Given the description of an element on the screen output the (x, y) to click on. 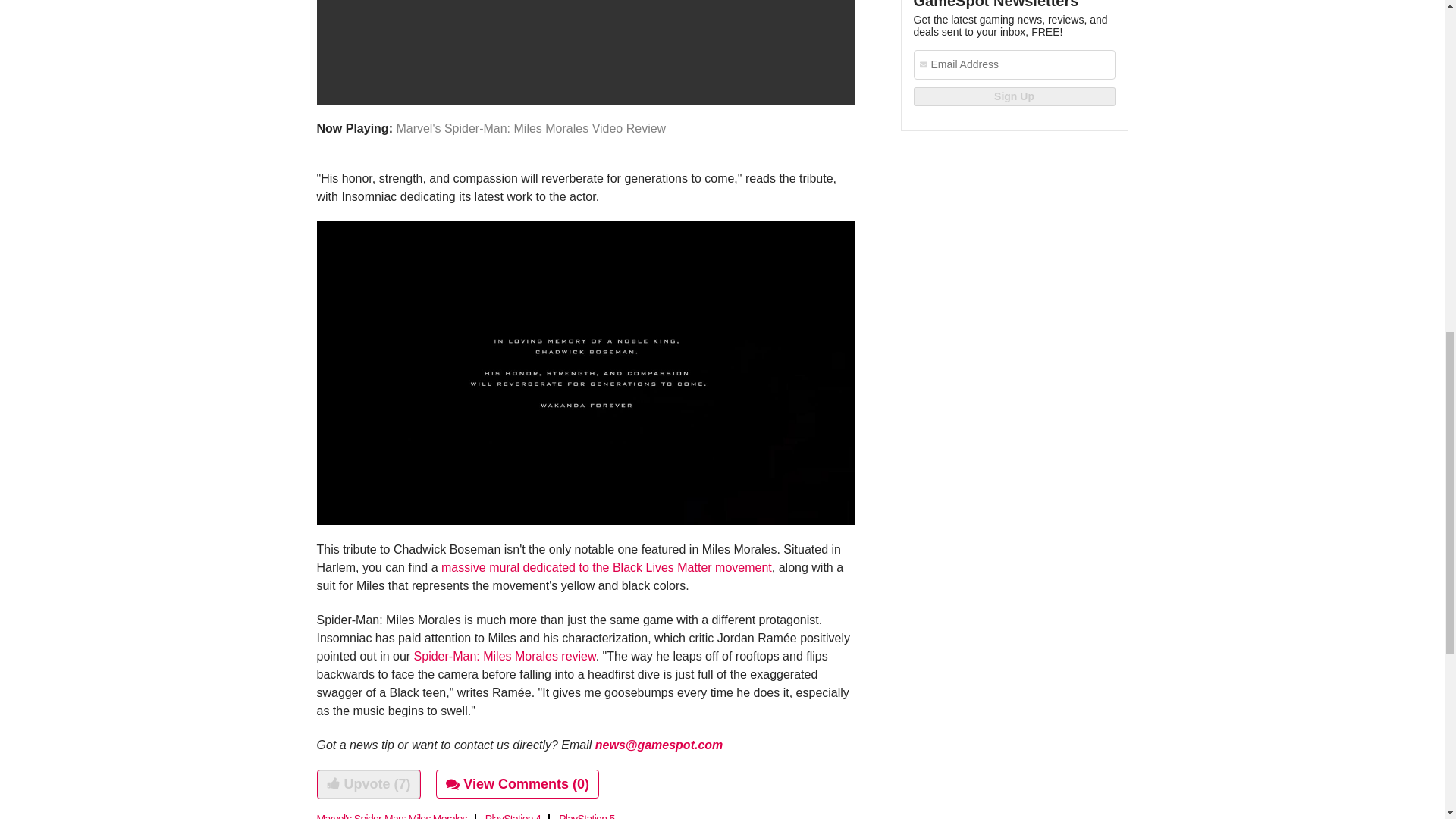
Now Playing: Marvel's Spider-Man: Miles Morales Video Review (586, 69)
